Given the description of an element on the screen output the (x, y) to click on. 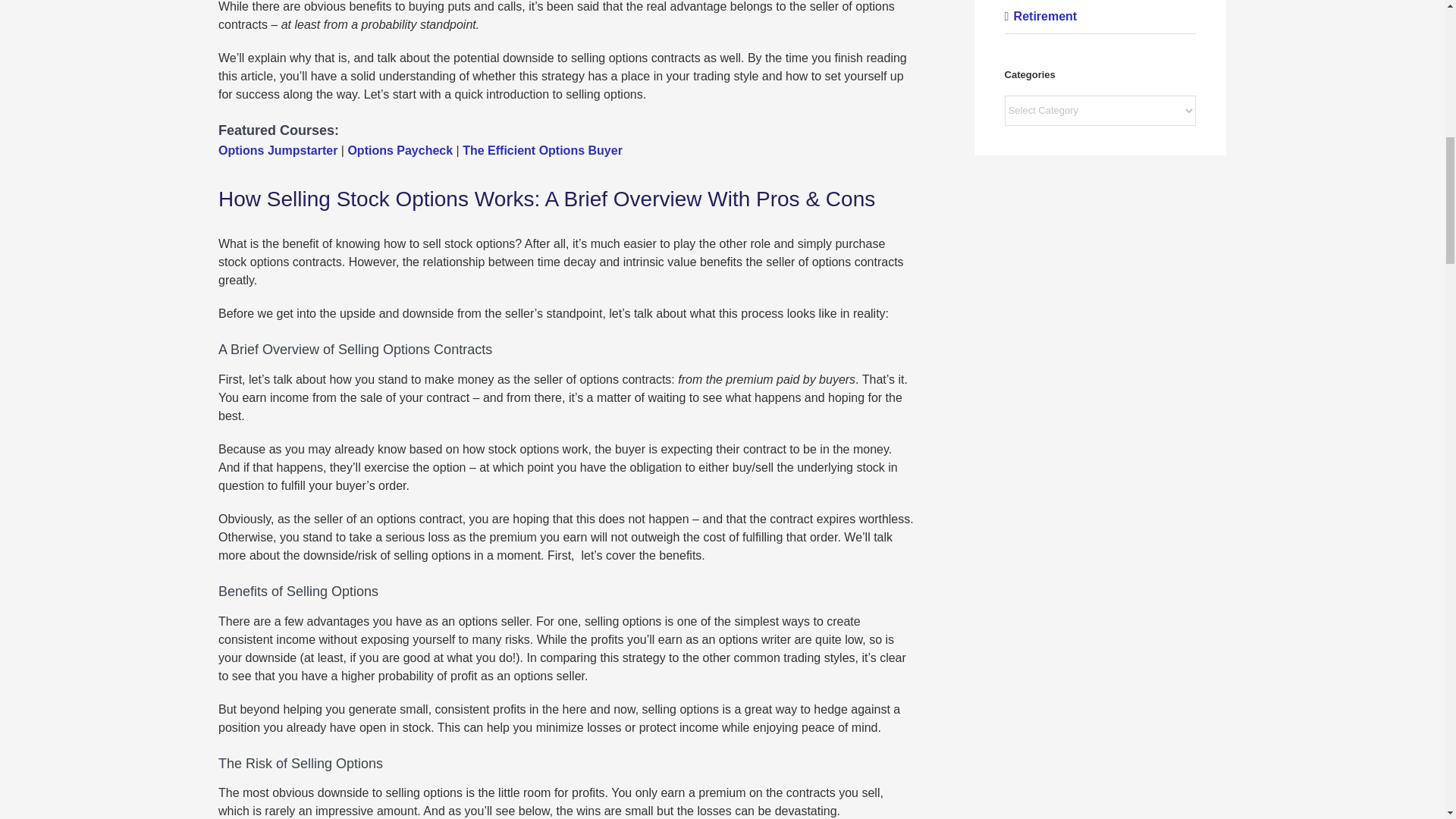
VectorVest: Featured Courses - The Efficient Options Buyer (543, 150)
VectorVest: Featured Courses - Options Jumpstarter (277, 150)
VectorVest: Featured Courses - Options Paycheck (399, 150)
